Given the description of an element on the screen output the (x, y) to click on. 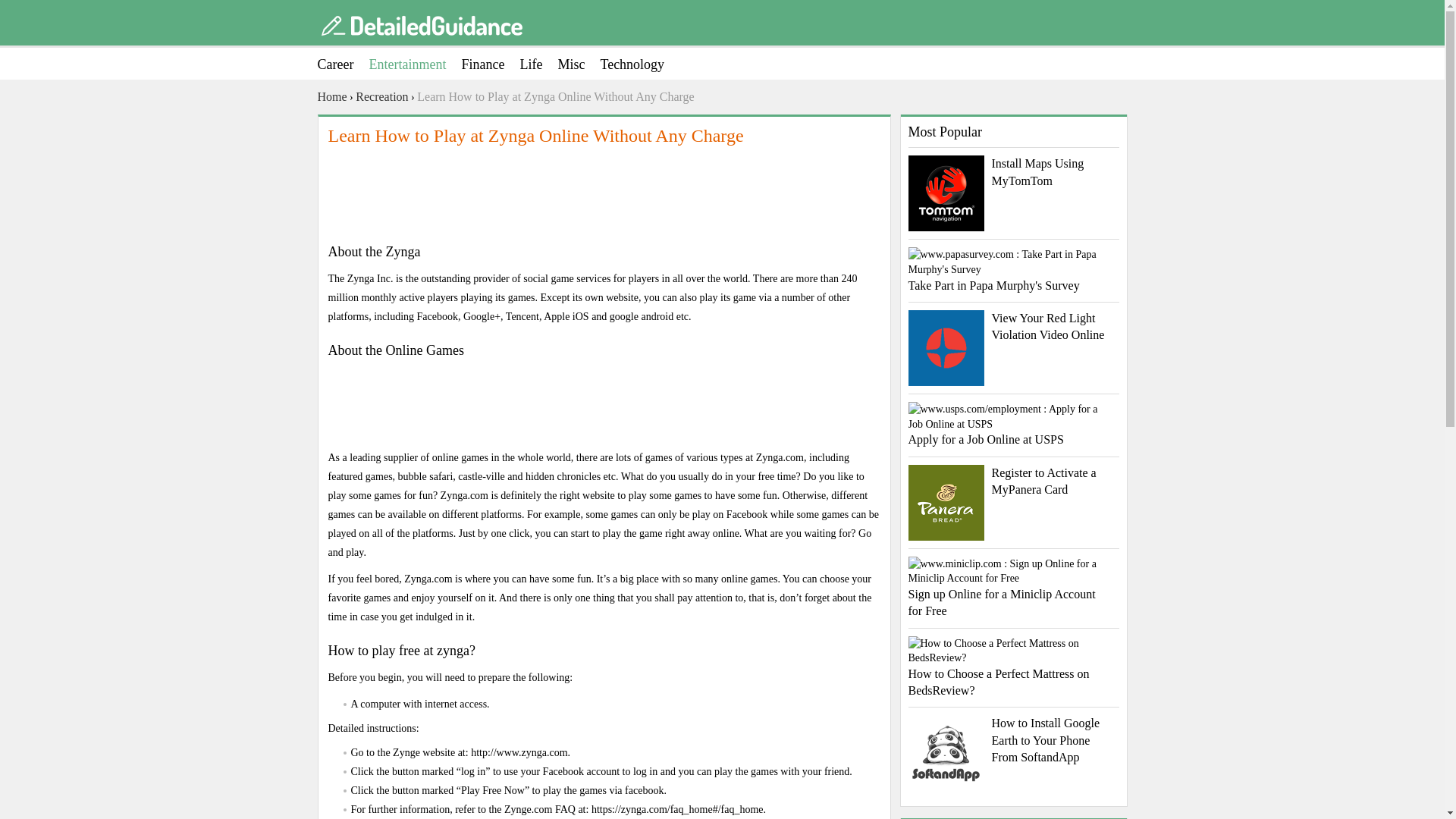
Finance (490, 64)
Recreation (381, 96)
via facebook (635, 790)
How to Choose a Perfect Mattress on BedsReview? (1013, 668)
Technology (639, 64)
View Your Red Light Violation Video Online (1013, 326)
Technology (639, 64)
Life (538, 64)
Home (331, 96)
Career (342, 64)
Sign up Online for a Miniclip Account for Free (1013, 587)
Entertainment (414, 64)
Misc (578, 64)
Misc (578, 64)
Apply for a Job Online at USPS (1013, 425)
